Given the description of an element on the screen output the (x, y) to click on. 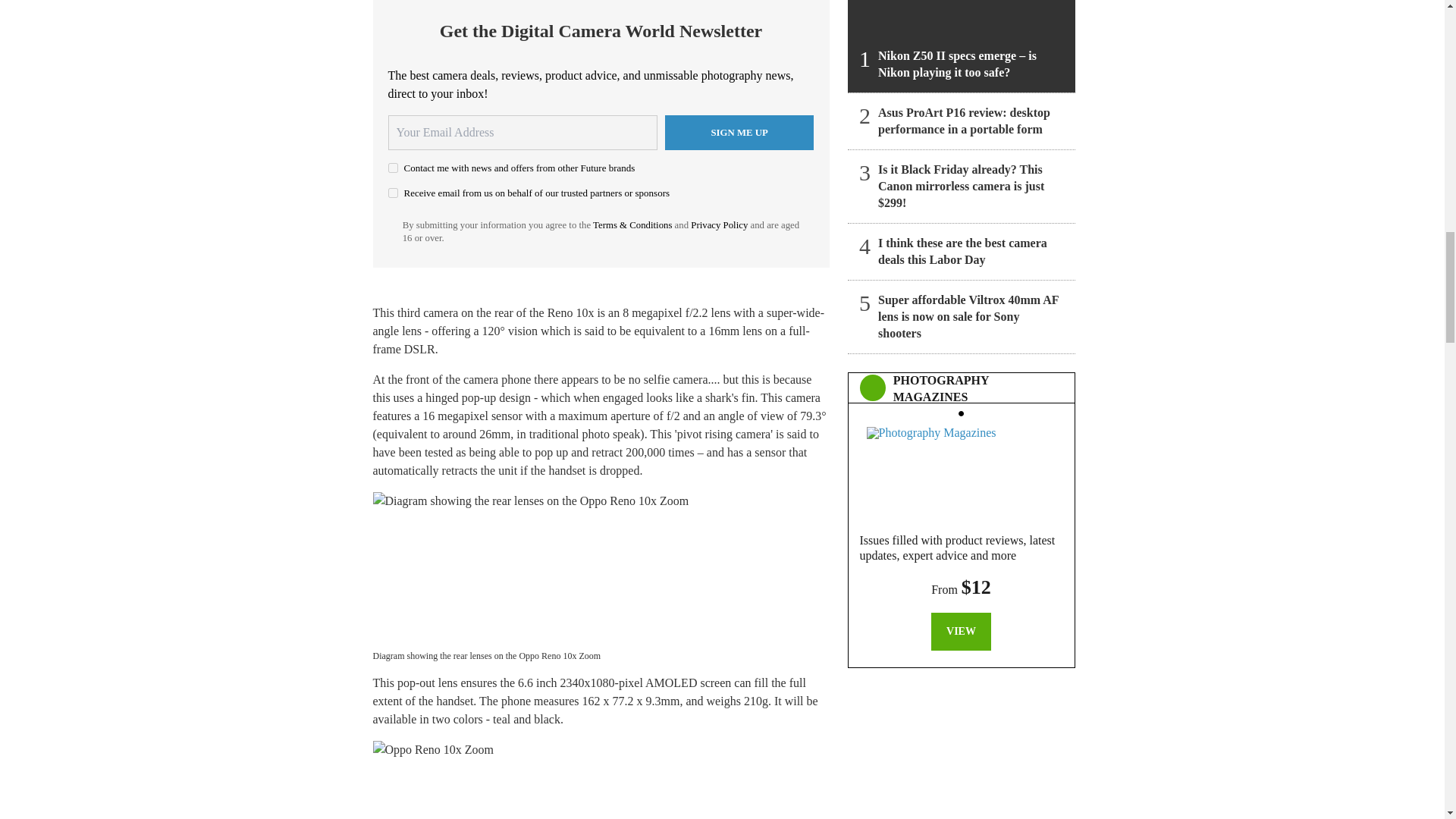
Sign me up (739, 132)
on (392, 193)
Photography Magazines (960, 470)
on (392, 167)
